Given the description of an element on the screen output the (x, y) to click on. 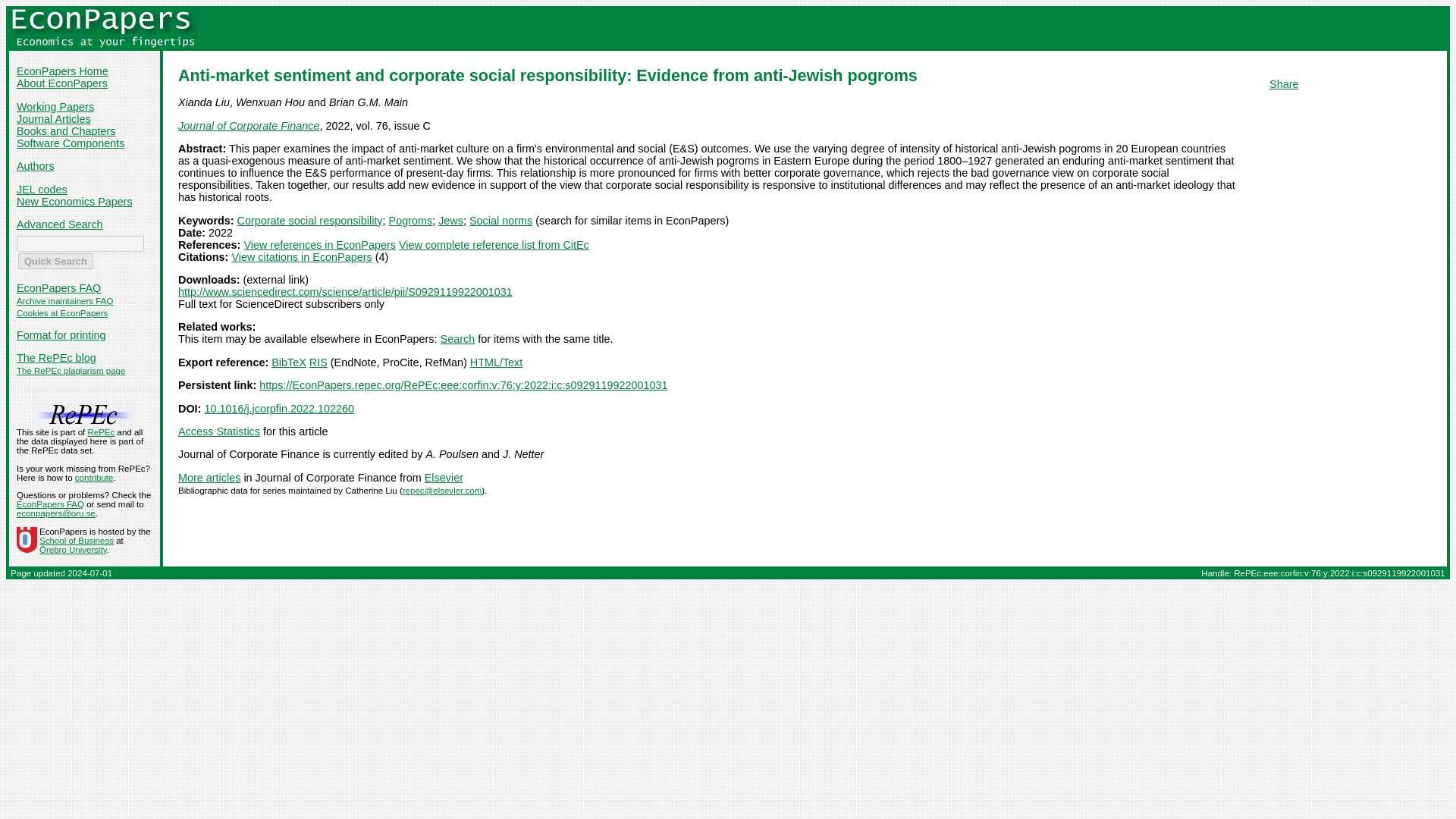
View citations in EconPapers (301, 256)
EconPapers FAQ (58, 287)
About EconPapers (61, 82)
EconPapers FAQ (50, 503)
RePEc (101, 431)
More articles (208, 477)
Journal Articles (53, 119)
Pogroms (410, 220)
The RePEc blog (56, 357)
Search (458, 338)
